Given the description of an element on the screen output the (x, y) to click on. 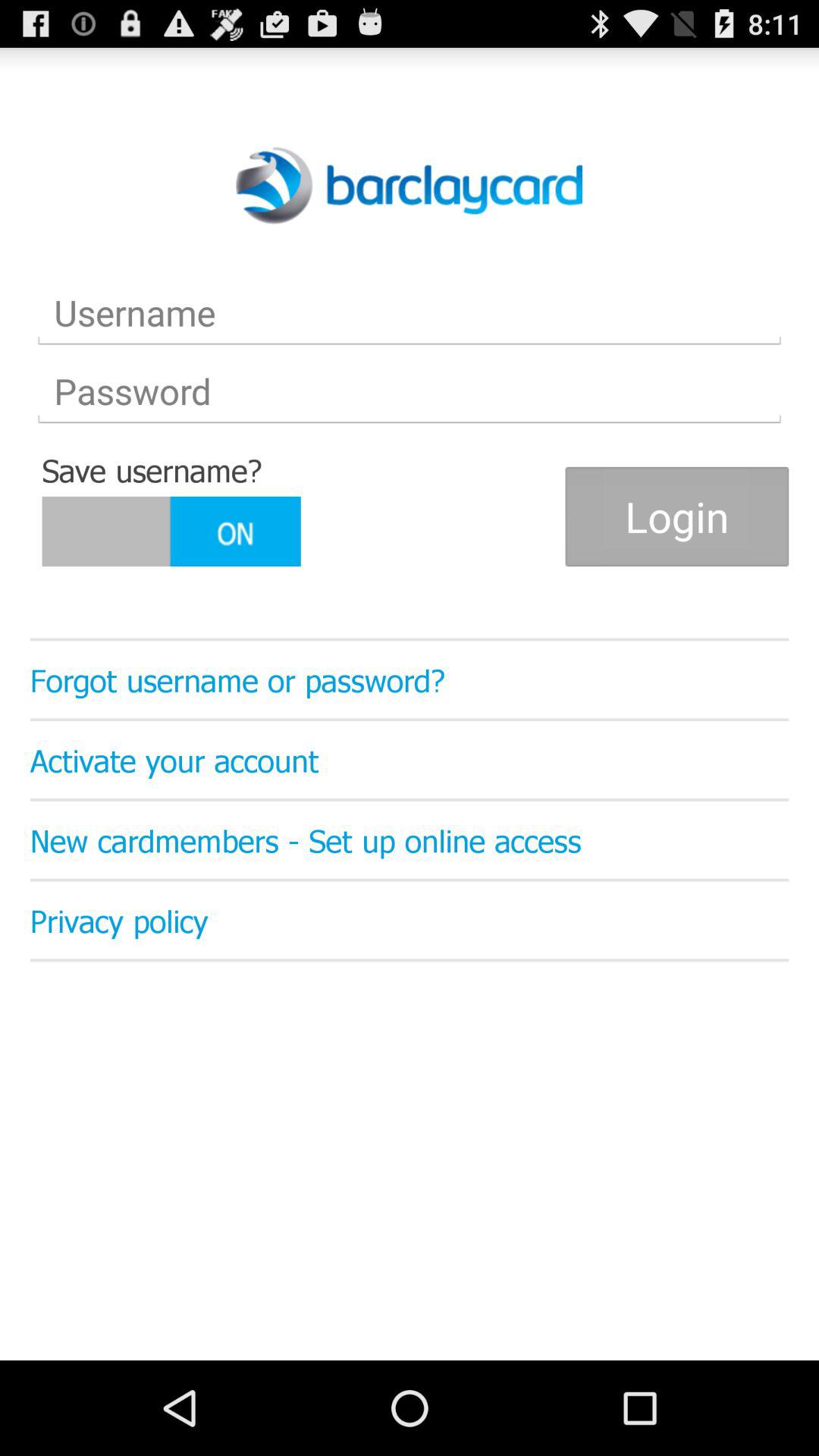
swipe until the privacy policy item (409, 920)
